Given the description of an element on the screen output the (x, y) to click on. 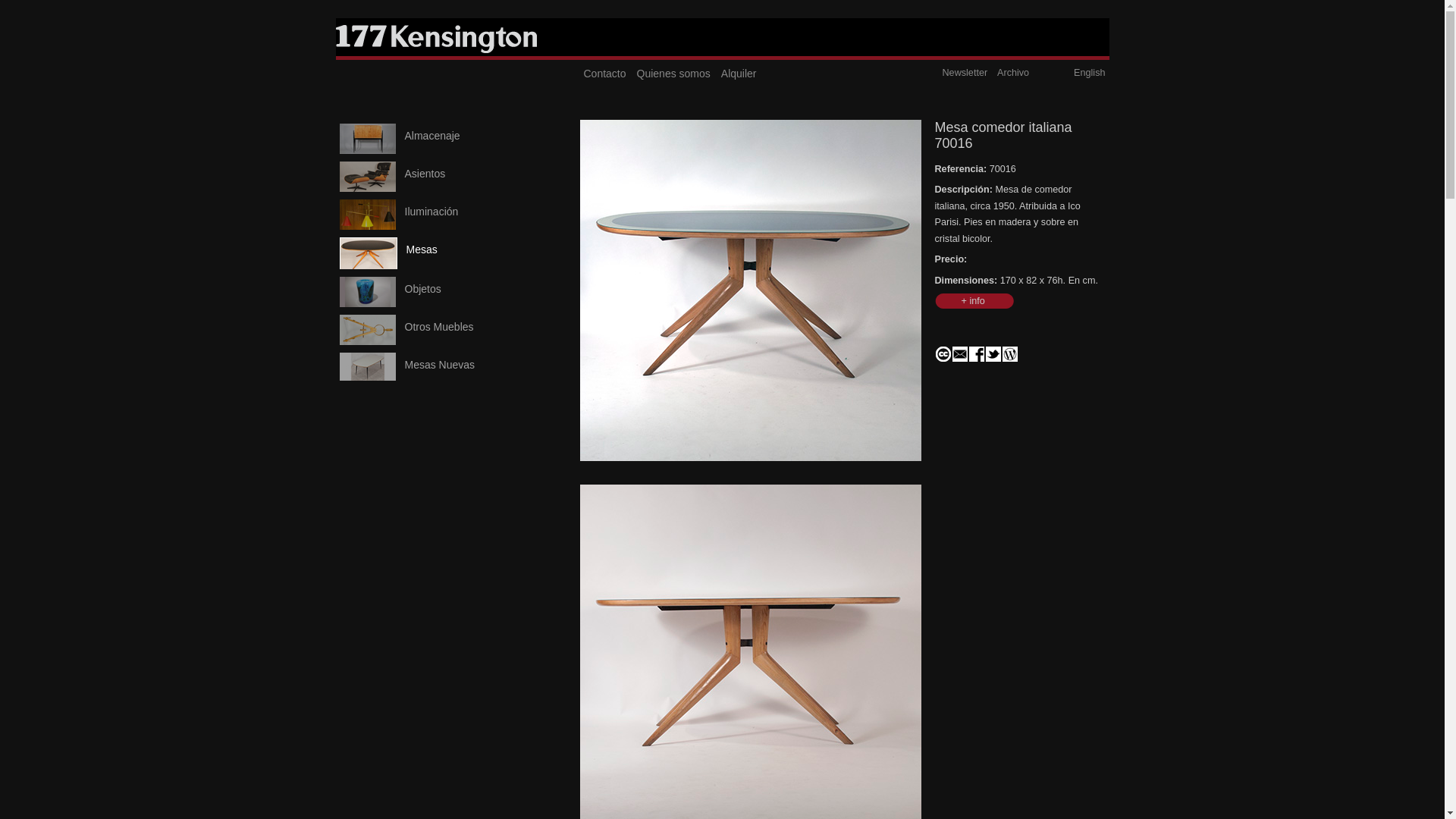
Newsletter Element type: text (964, 72)
Mesas Nuevas Element type: text (430, 367)
Twitter Element type: hover (993, 353)
English Element type: text (1088, 72)
+ info Element type: text (973, 300)
Alquiler Element type: text (738, 73)
wordpress Element type: hover (1009, 353)
Mesa Element type: hover (1009, 358)
Objetos Element type: text (430, 291)
Almacenaje Element type: text (430, 138)
creative commons Element type: hover (942, 358)
Facebook Element type: hover (993, 358)
Facebook Element type: hover (976, 353)
Mesas Element type: text (430, 253)
Creative Commons Element type: hover (942, 353)
email Element type: hover (959, 353)
email Element type: hover (959, 358)
Quienes somos Element type: text (673, 73)
Facebook Element type: hover (976, 358)
Archivo Element type: text (1013, 72)
Otros Muebles Element type: text (430, 329)
Contacto Element type: text (604, 73)
Asientos Element type: text (430, 176)
